Given the description of an element on the screen output the (x, y) to click on. 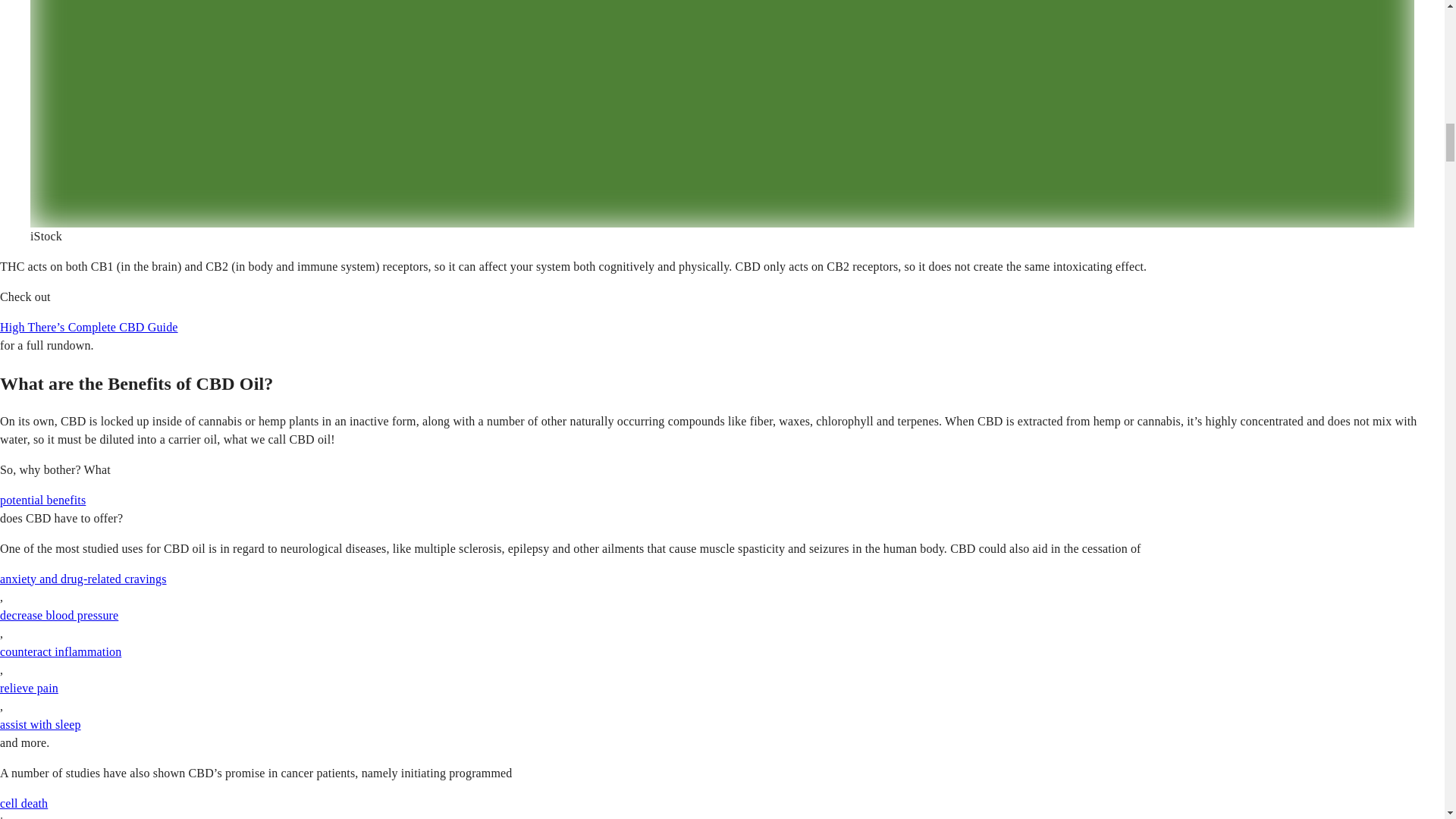
decrease blood pressure (58, 615)
anxiety and drug-related cravings (83, 578)
cell death (24, 802)
relieve pain (29, 687)
potential benefits (42, 499)
assist with sleep (40, 724)
counteract inflammation (60, 651)
